Given the description of an element on the screen output the (x, y) to click on. 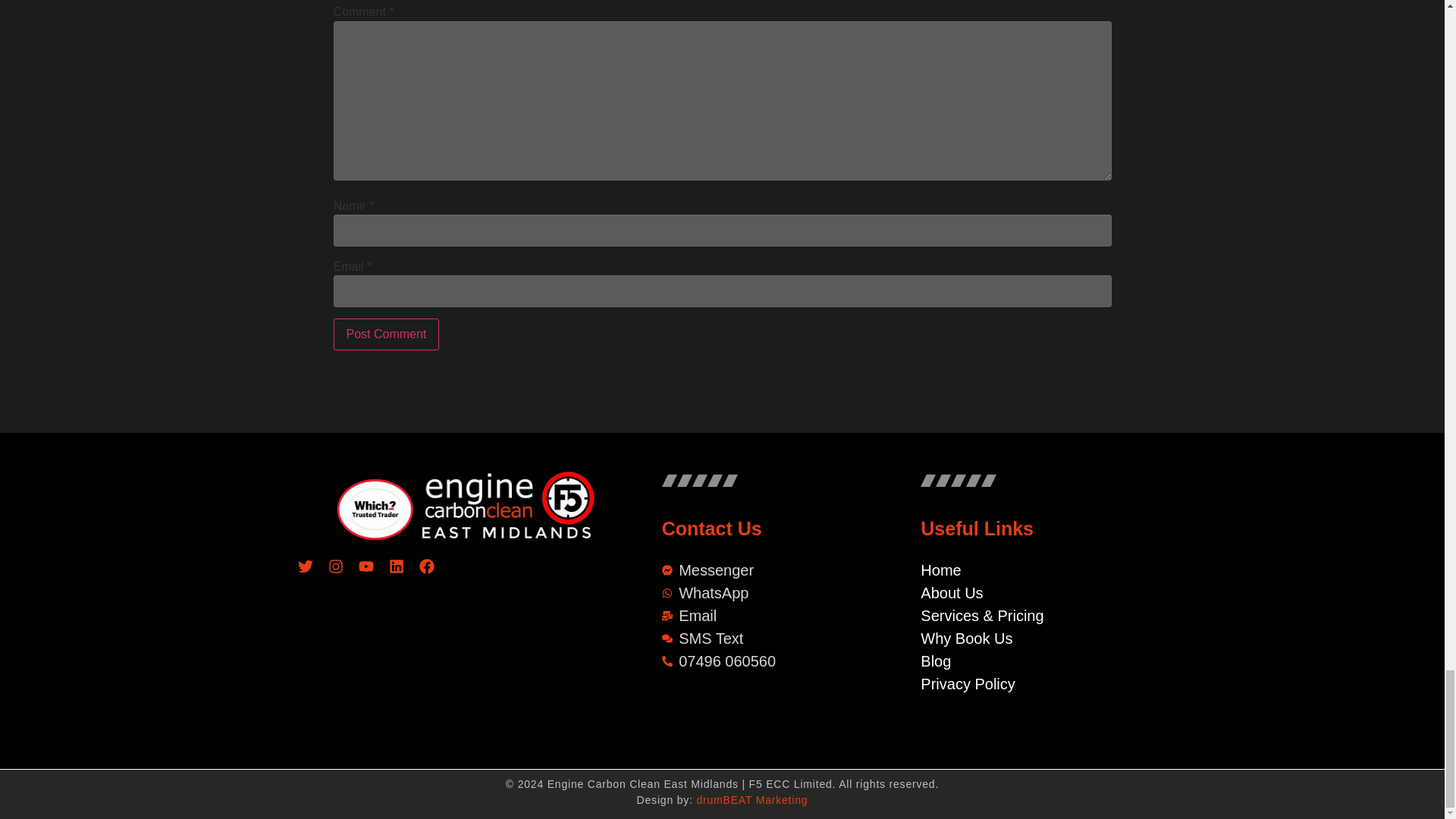
Which? Trusted Trader of the Month August 2022 (352, 659)
SMS Text (765, 638)
WhatsApp (765, 592)
07496 060560 (765, 661)
Email (765, 615)
Which? Trusted Trader of the Month October 2018 (572, 659)
Messenger (765, 569)
Post Comment (386, 334)
Post Comment (386, 334)
